Given the description of an element on the screen output the (x, y) to click on. 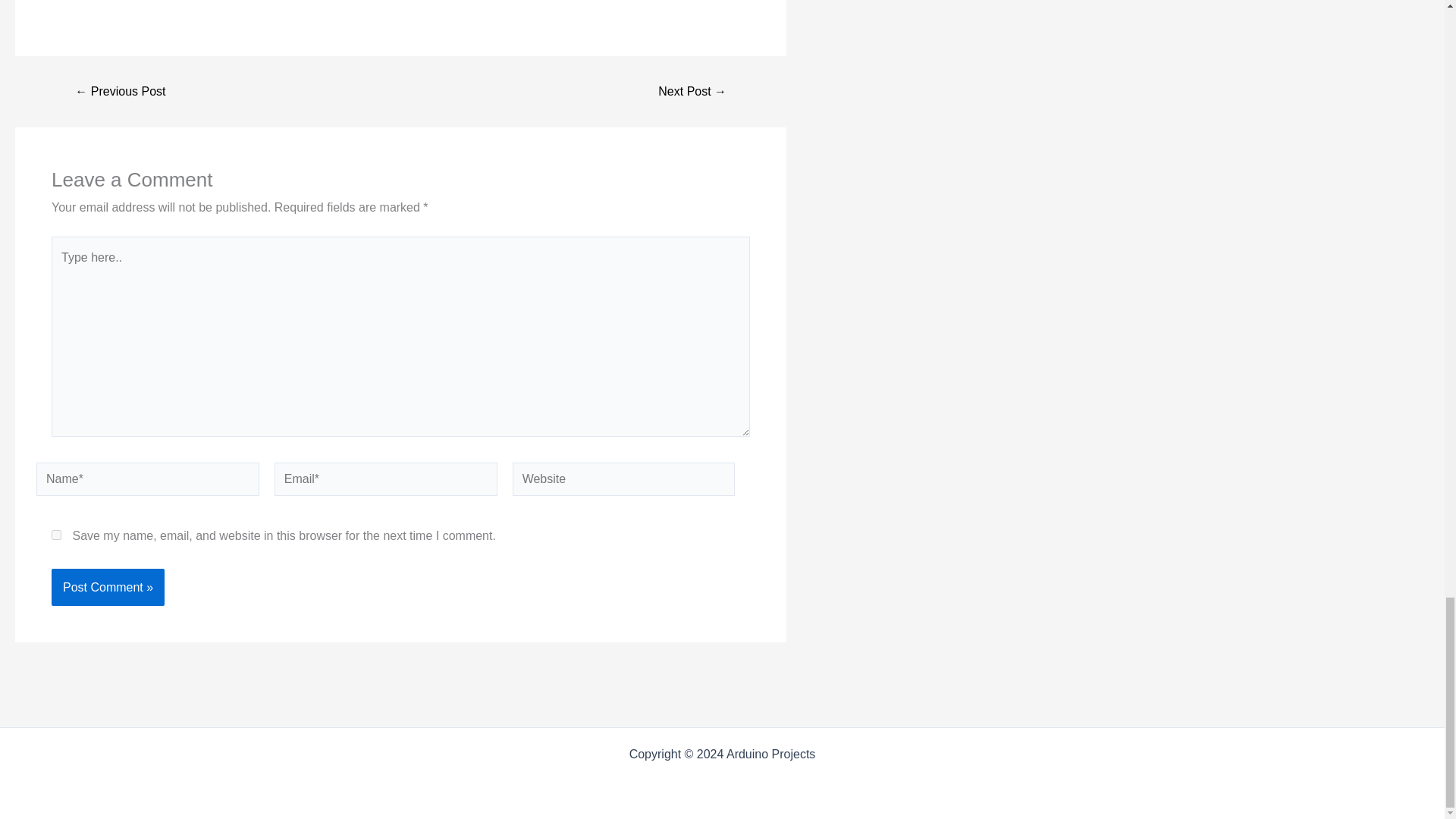
yes (55, 534)
High-end Fpga Som Based on Arria 10 Gx Fpga (119, 91)
